Given the description of an element on the screen output the (x, y) to click on. 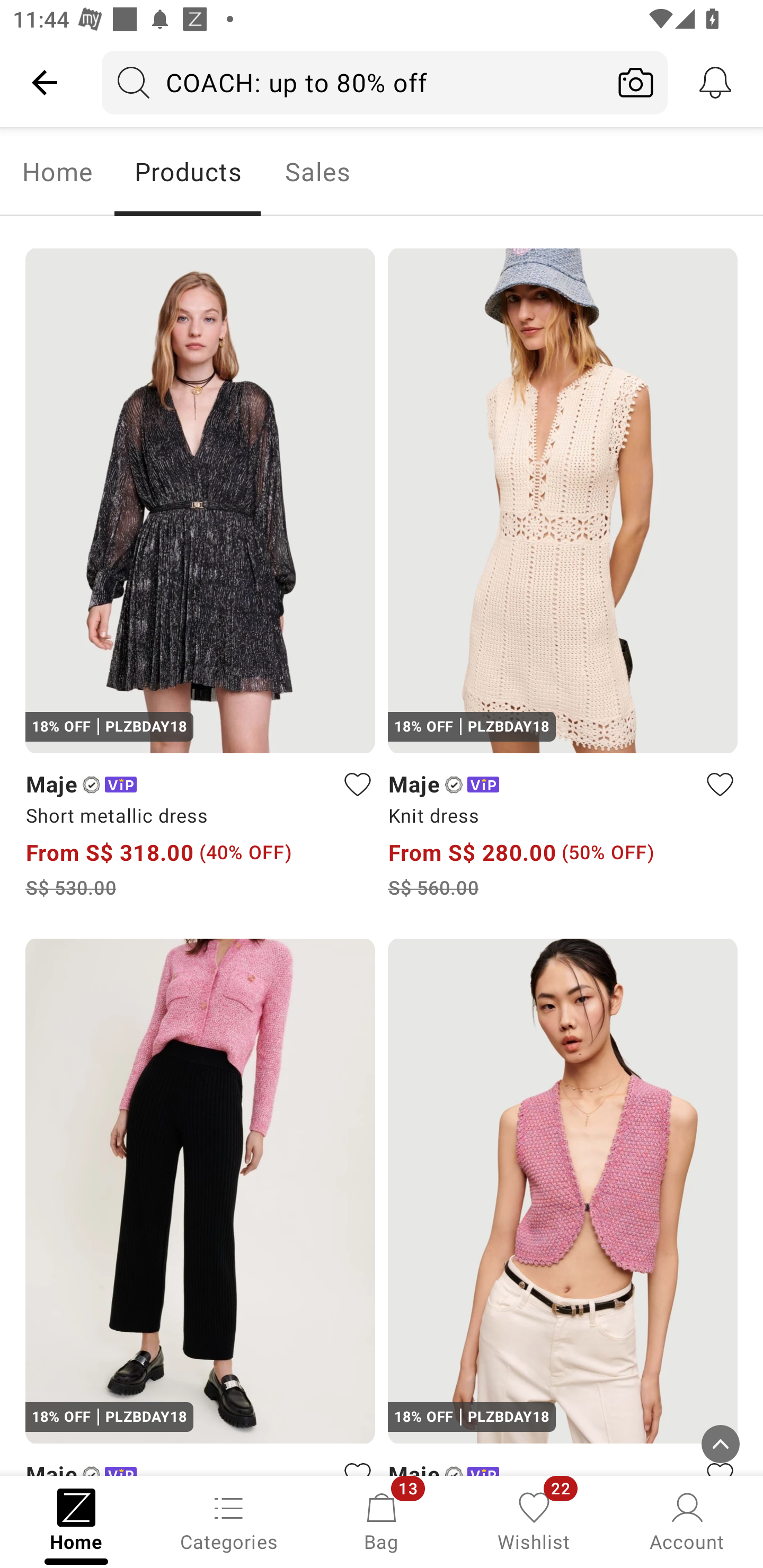
Navigate up (44, 82)
COACH: up to 80% off (352, 82)
Home (57, 171)
Sales (317, 171)
18% OFF PLZBDAY18 Maje Brand (200, 1206)
18% OFF PLZBDAY18 Maje Brand (562, 1206)
Categories (228, 1519)
Bag, 13 new notifications Bag (381, 1519)
Wishlist, 22 new notifications Wishlist (533, 1519)
Account (686, 1519)
